Given the description of an element on the screen output the (x, y) to click on. 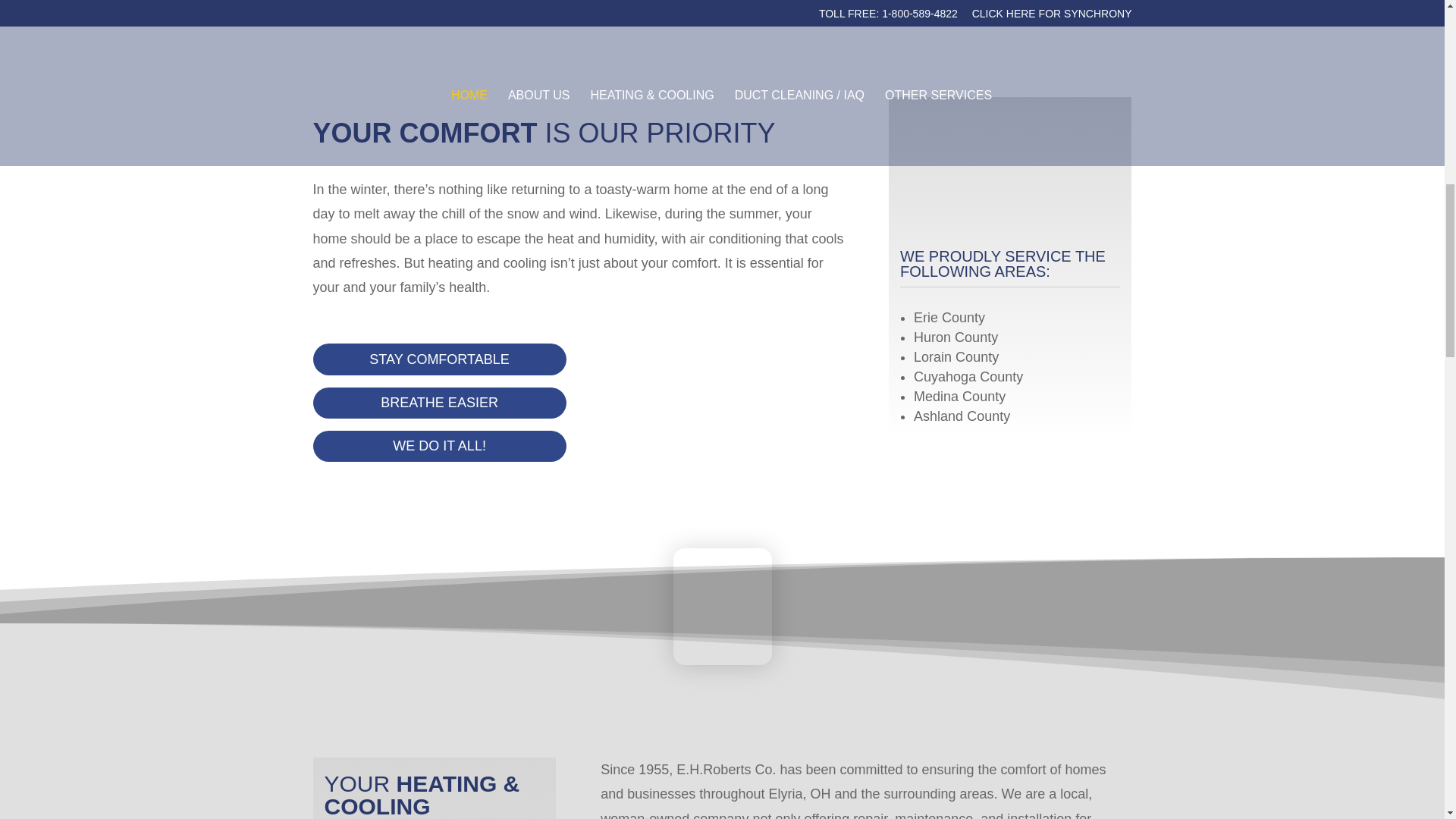
STAY COMFORTABLE (439, 358)
BREATHE EASIER (439, 402)
WE DO IT ALL! (439, 445)
